Given the description of an element on the screen output the (x, y) to click on. 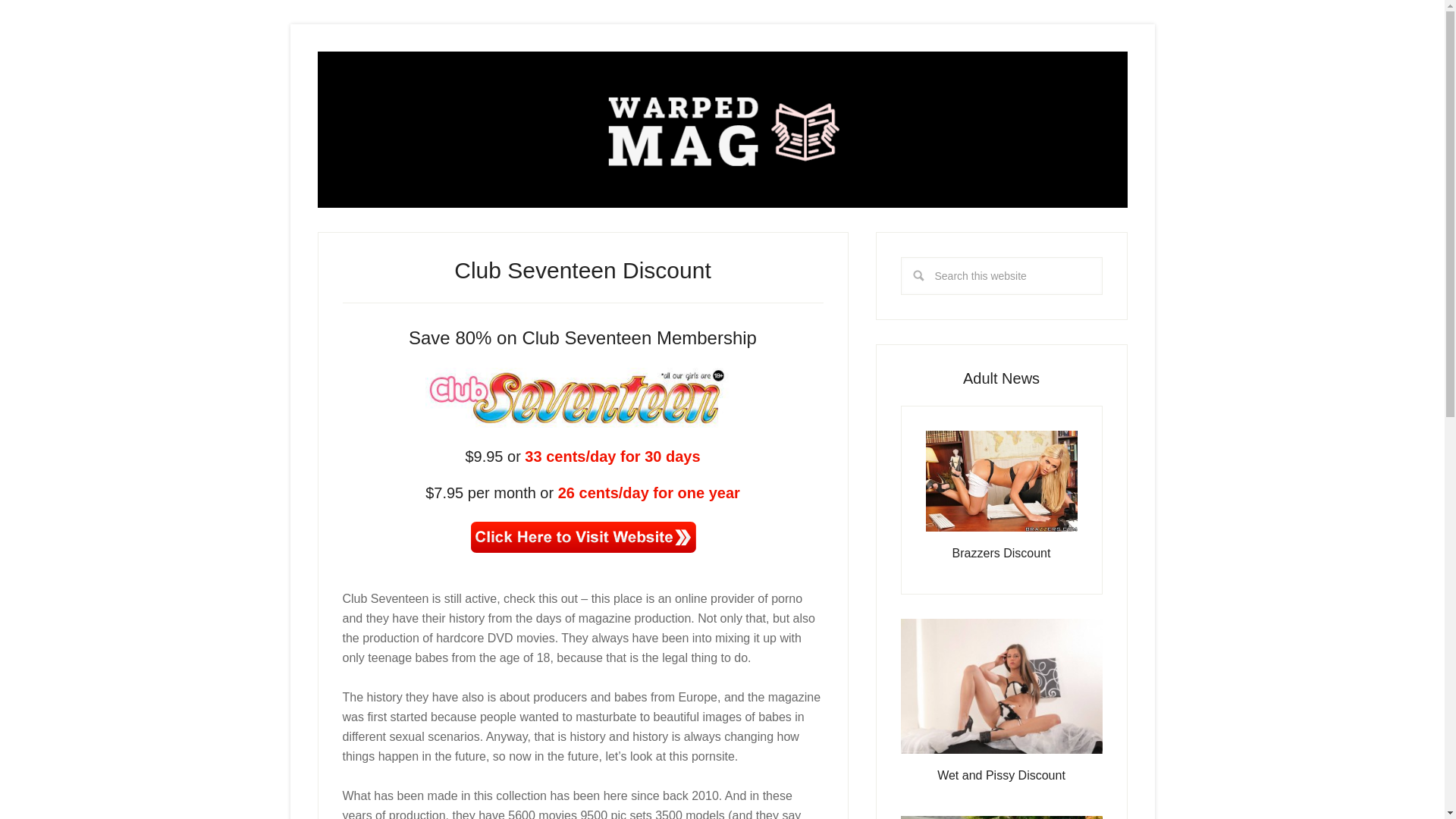
Warped Mag (721, 129)
Brazzers Discount (1001, 553)
Wet and Pissy Discount (1001, 775)
